Given the description of an element on the screen output the (x, y) to click on. 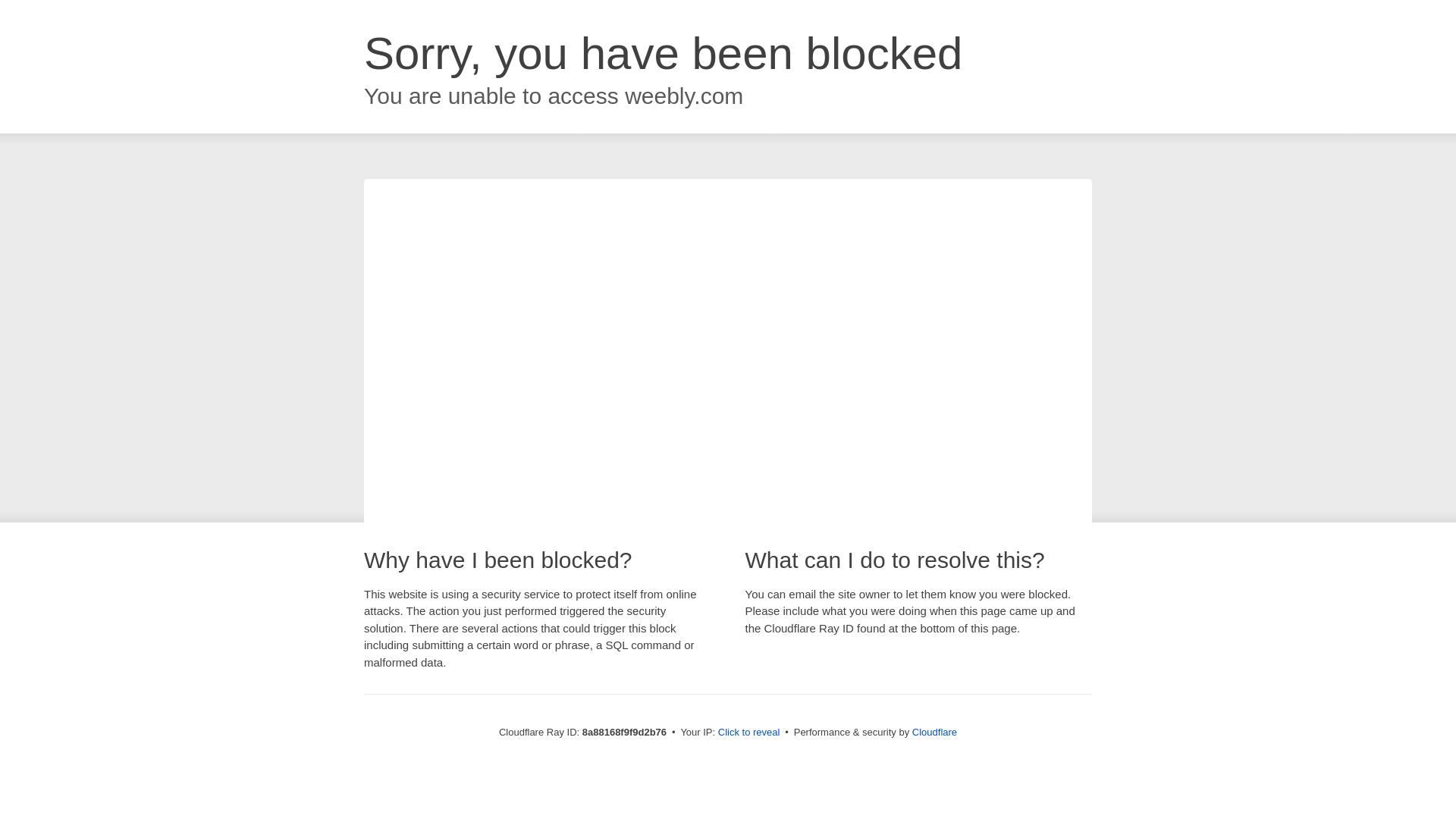
Cloudflare (934, 731)
Click to reveal (748, 732)
